Given the description of an element on the screen output the (x, y) to click on. 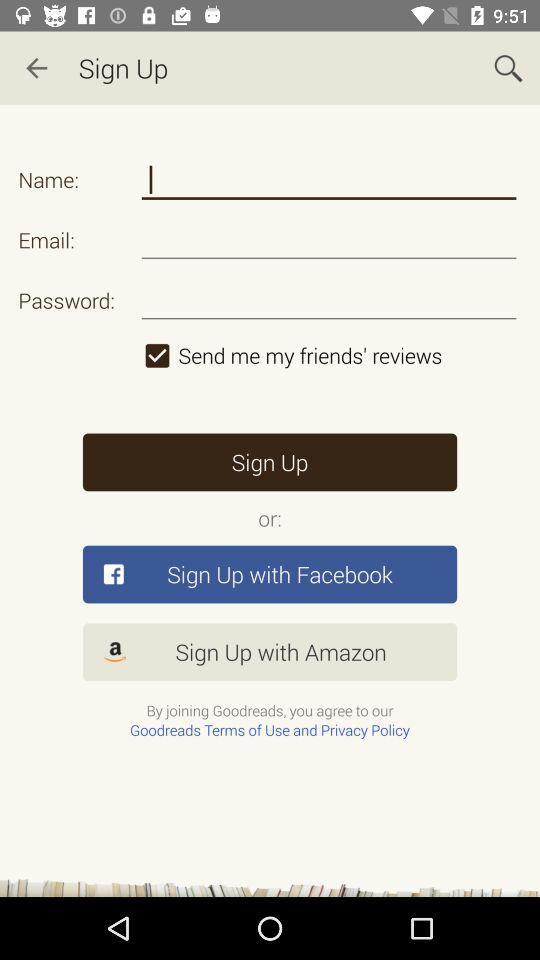
tap item below the by joining goodreads item (269, 729)
